Given the description of an element on the screen output the (x, y) to click on. 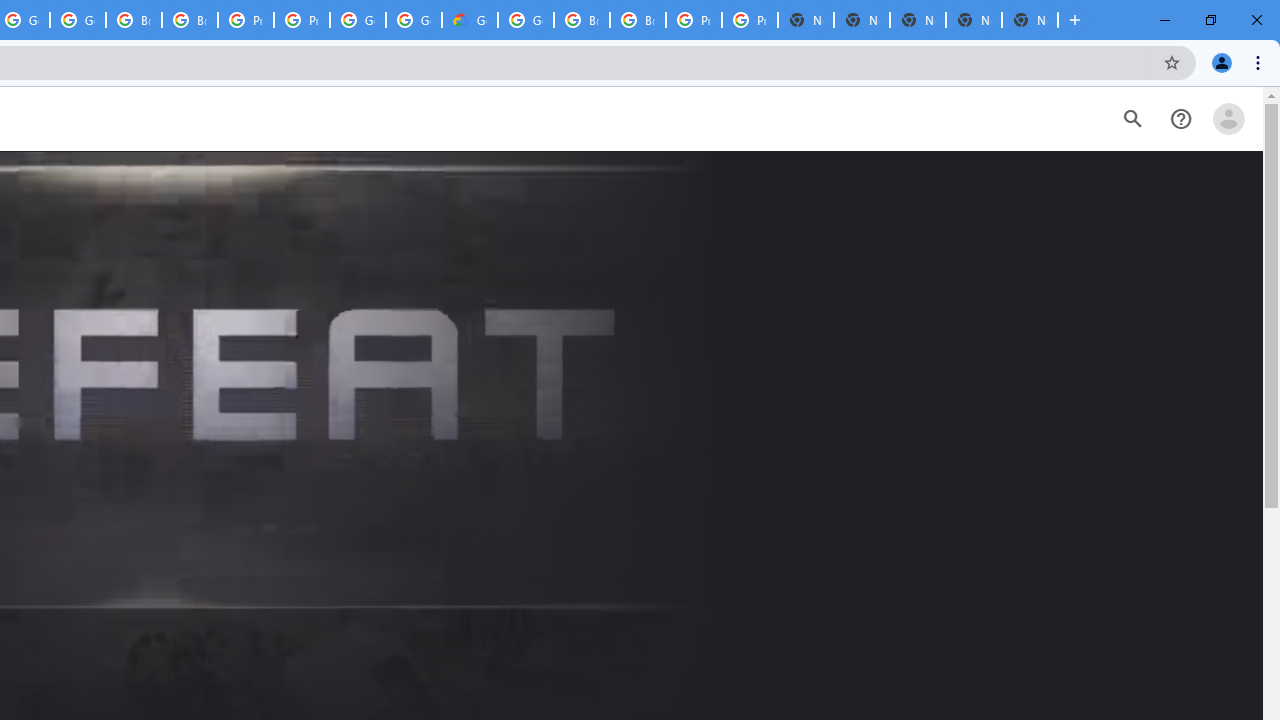
New Tab (1030, 20)
Google Cloud Platform (358, 20)
